Given the description of an element on the screen output the (x, y) to click on. 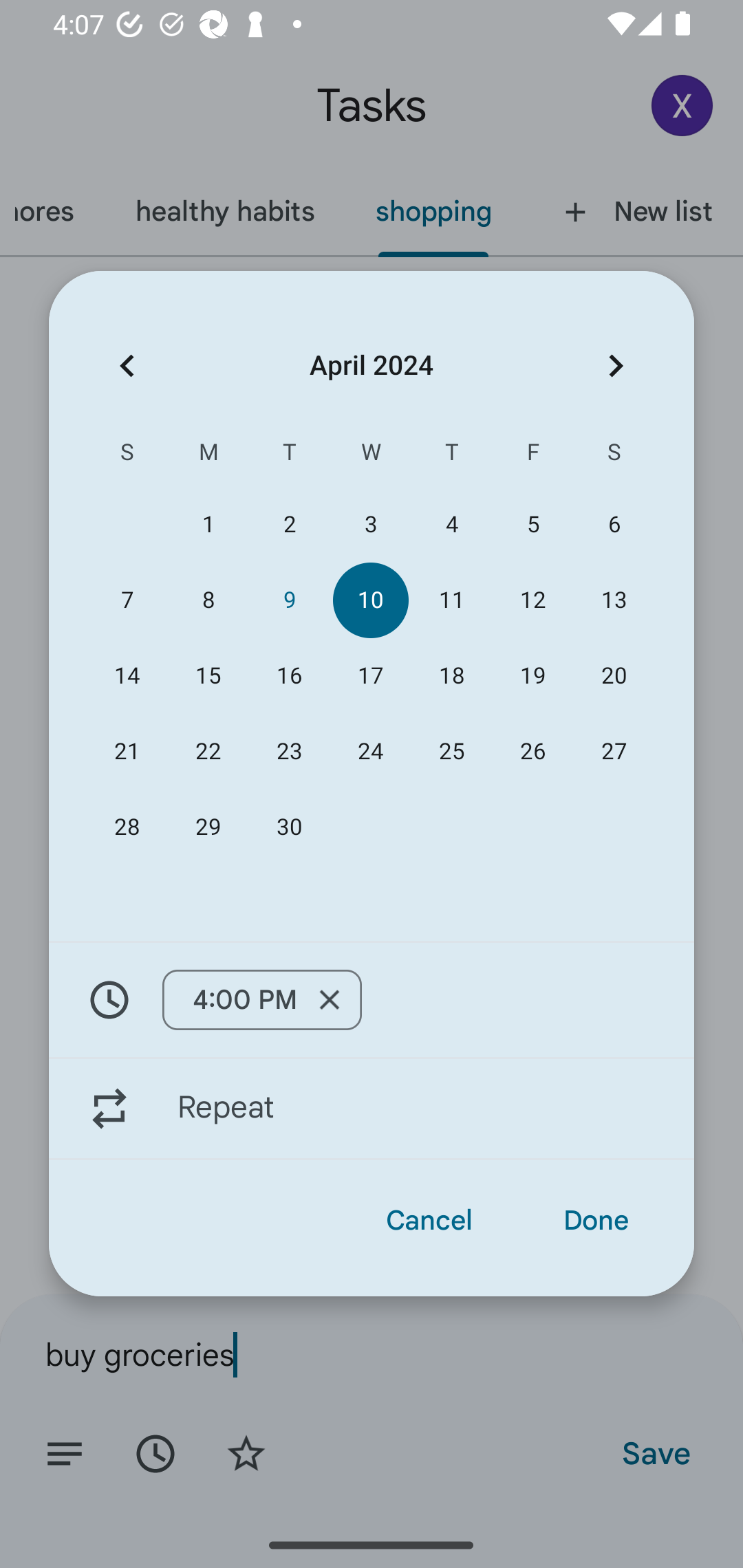
Previous month (126, 364)
Next month (615, 364)
1 01 April 2024 (207, 524)
2 02 April 2024 (288, 524)
3 03 April 2024 (370, 524)
4 04 April 2024 (451, 524)
5 05 April 2024 (532, 524)
6 06 April 2024 (613, 524)
7 07 April 2024 (126, 600)
8 08 April 2024 (207, 600)
9 09 April 2024 (288, 600)
10 10 April 2024 (370, 600)
11 11 April 2024 (451, 600)
12 12 April 2024 (532, 600)
13 13 April 2024 (613, 600)
14 14 April 2024 (126, 675)
15 15 April 2024 (207, 675)
16 16 April 2024 (288, 675)
17 17 April 2024 (370, 675)
18 18 April 2024 (451, 675)
19 19 April 2024 (532, 675)
20 20 April 2024 (613, 675)
21 21 April 2024 (126, 751)
22 22 April 2024 (207, 751)
23 23 April 2024 (288, 751)
24 24 April 2024 (370, 751)
25 25 April 2024 (451, 751)
26 26 April 2024 (532, 751)
27 27 April 2024 (613, 751)
28 28 April 2024 (126, 827)
29 29 April 2024 (207, 827)
30 30 April 2024 (288, 827)
4:00 PM Remove 4:00 PM (371, 999)
4:00 PM Remove 4:00 PM (261, 999)
Repeat (371, 1108)
Cancel (429, 1220)
Done (595, 1220)
